Given the description of an element on the screen output the (x, y) to click on. 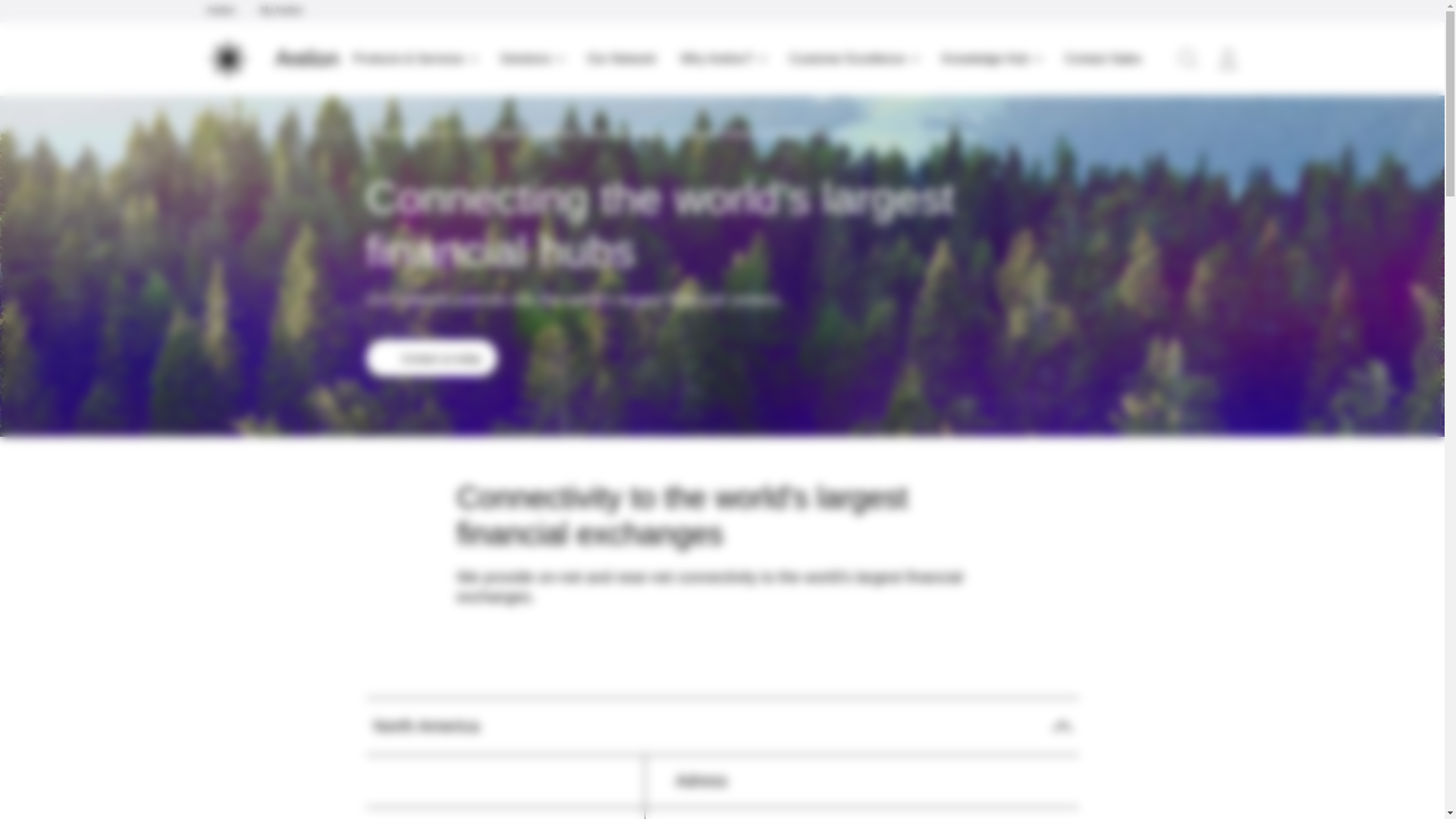
My Arelion (281, 11)
Arelion (220, 11)
Our Network (622, 58)
Why Arelion? (715, 58)
